Given the description of an element on the screen output the (x, y) to click on. 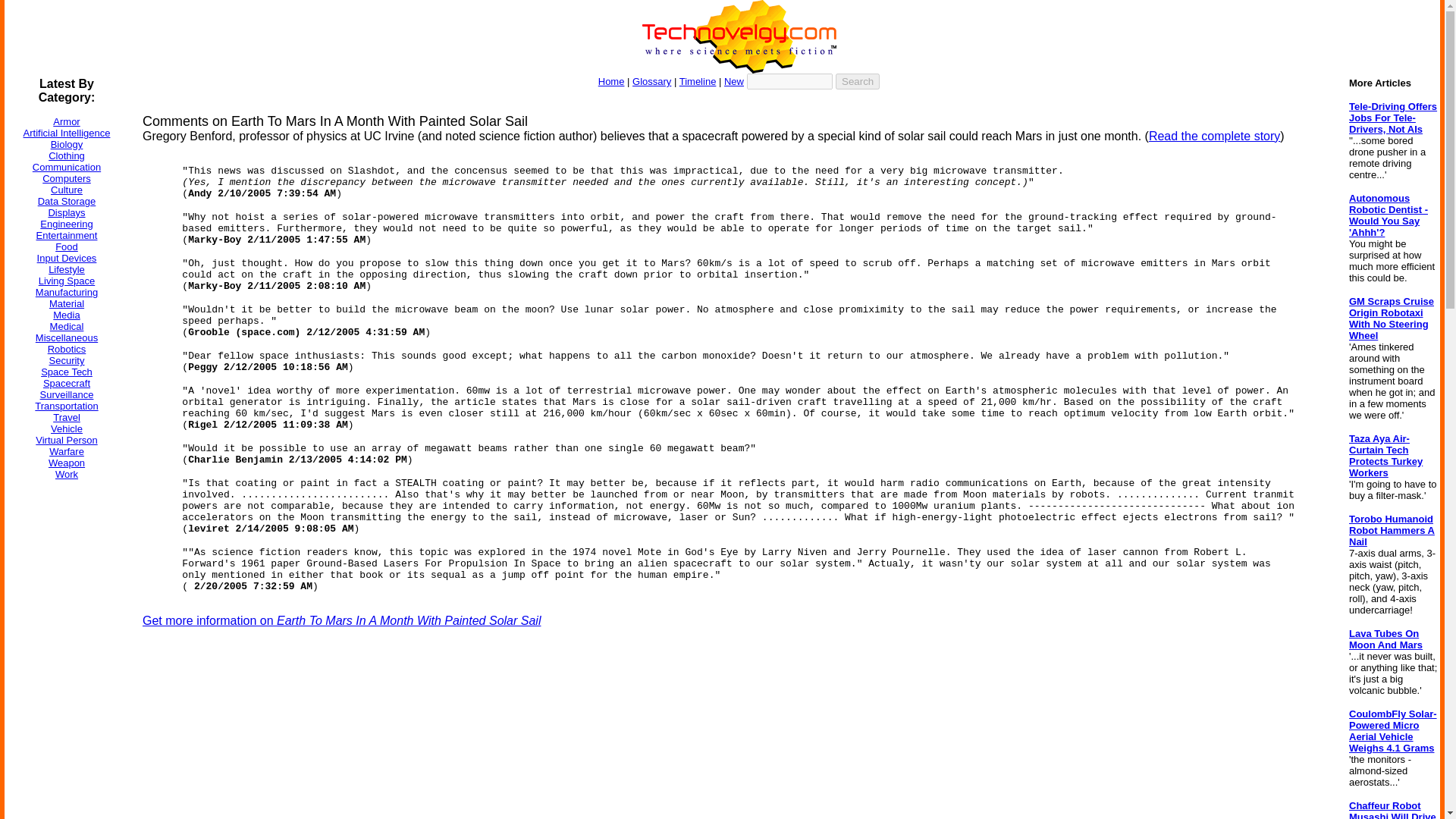
Vehicle (66, 428)
Clothing (66, 155)
Read the complete story (1213, 135)
Search (857, 81)
Media (66, 315)
Home (611, 81)
Security (66, 360)
Robotics (66, 348)
Weapon (66, 462)
